Given the description of an element on the screen output the (x, y) to click on. 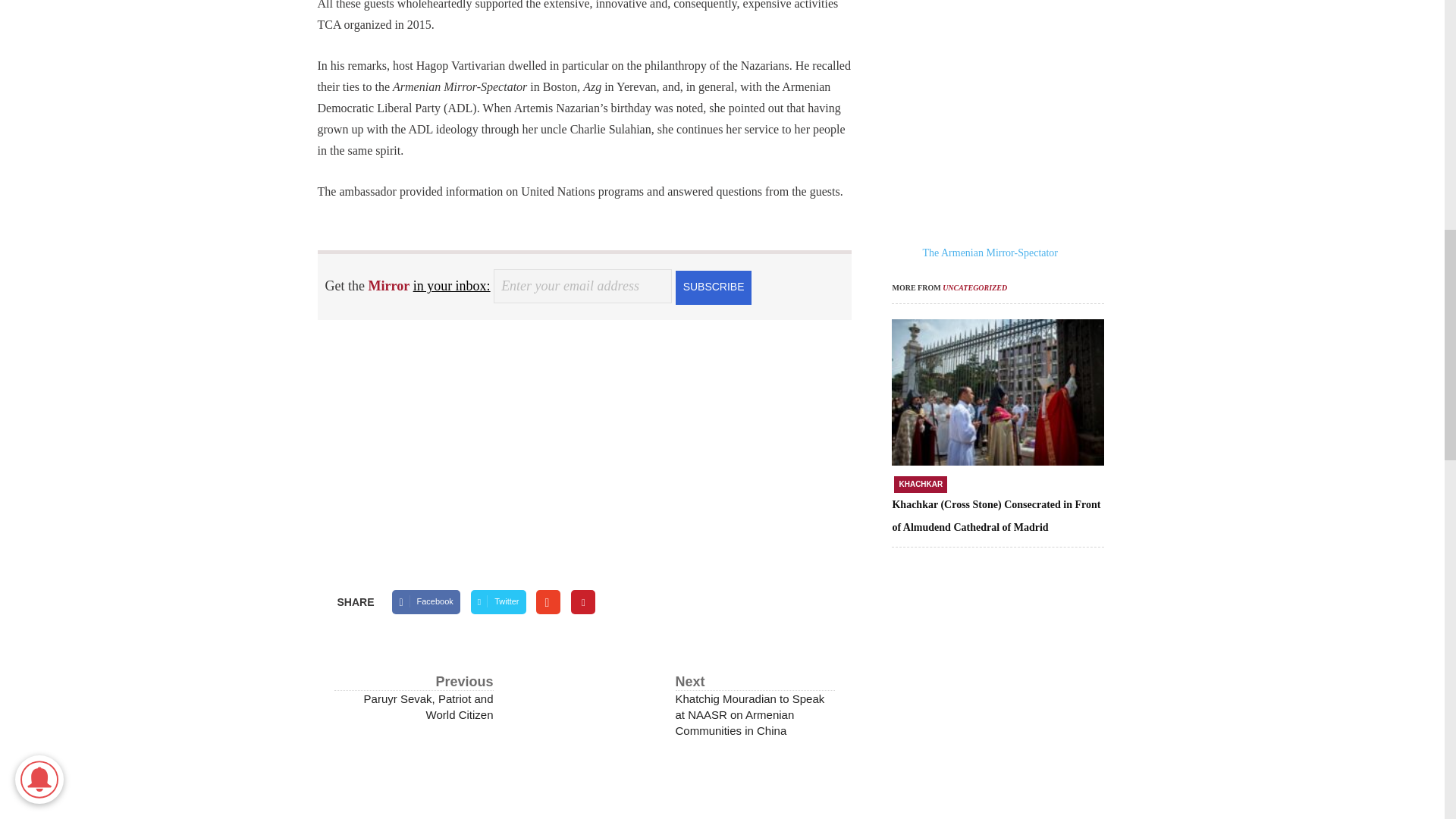
SUBSCRIBE (713, 286)
